Given the description of an element on the screen output the (x, y) to click on. 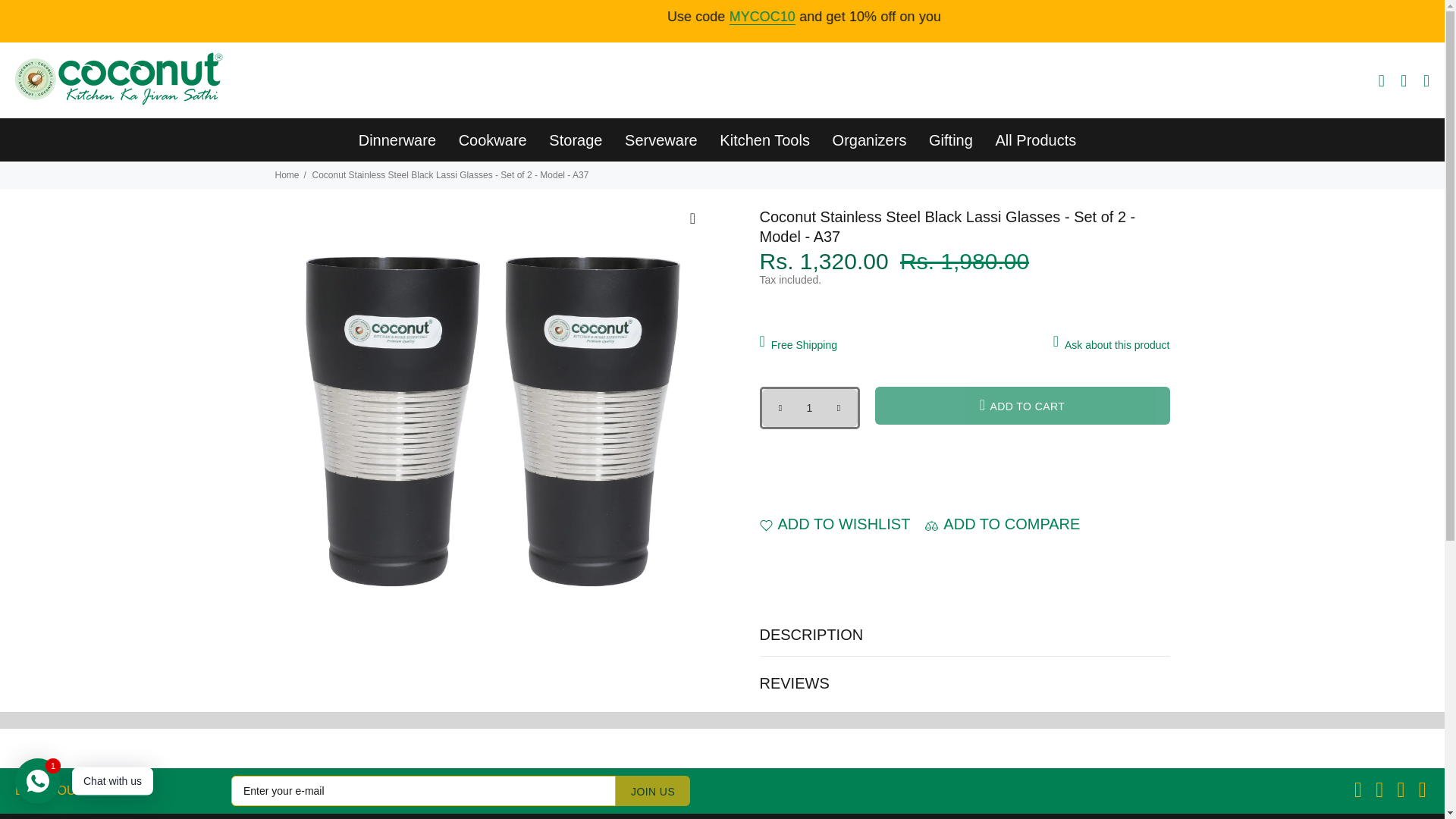
1 (809, 407)
